Given the description of an element on the screen output the (x, y) to click on. 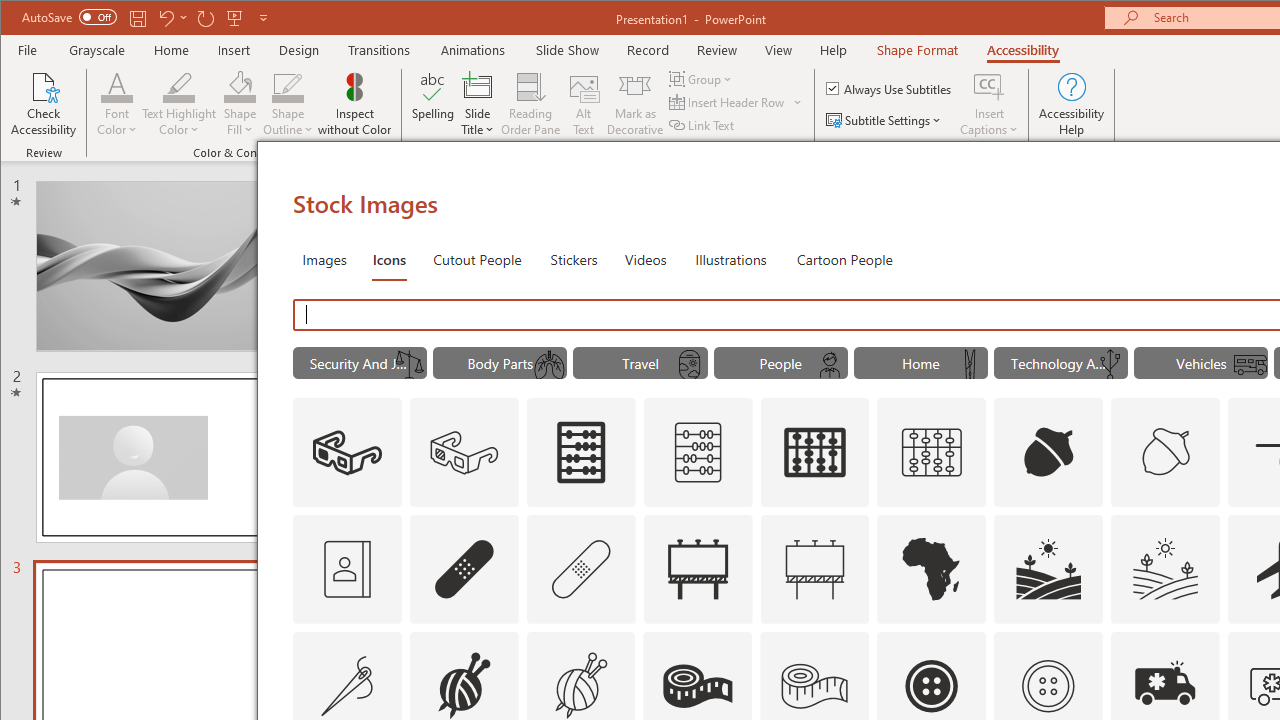
Slide Title (477, 104)
"Body Parts" Icons. (499, 362)
Shape Fill (239, 104)
Icons (388, 258)
Cartoon People (844, 258)
Slide Title (477, 86)
Insert Header Row (728, 101)
AutomationID: Icons_AddressBook_RTL_M (346, 568)
"Home" Icons. (920, 362)
AutomationID: Icons_Agriculture_M (1165, 568)
"Security And Justice" Icons. (360, 362)
